Given the description of an element on the screen output the (x, y) to click on. 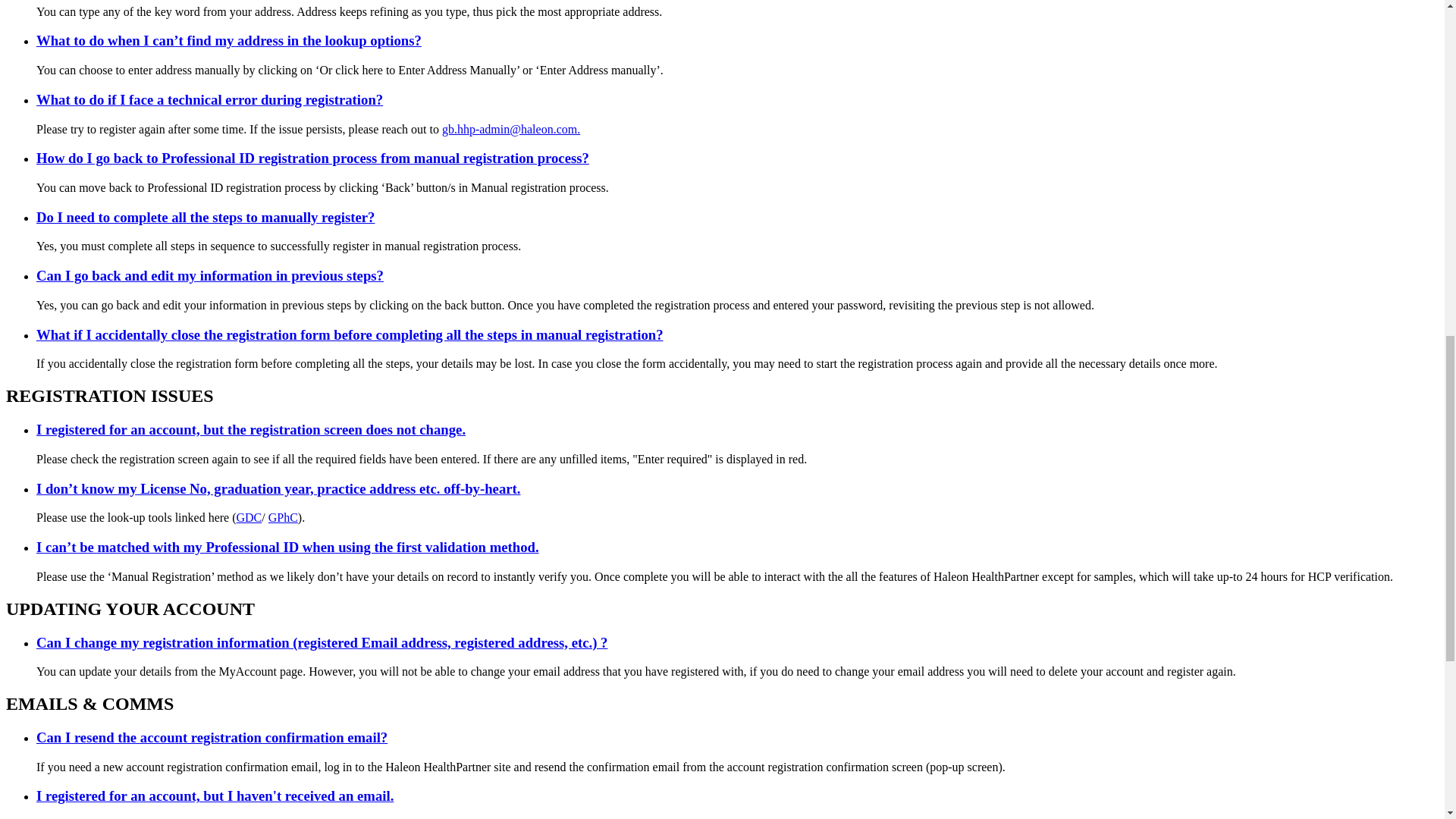
Do I need to complete all the steps to manually register? (205, 217)
What to do if I face a technical error during registration? (209, 99)
What to do if I face a technical error during registration? (209, 99)
Can I go back and edit my information in previous steps? (210, 275)
Can I resend the account registration confirmation email? (211, 737)
Do I need to complete all the steps to manually register? (205, 217)
Can I go back and edit my information in previous steps? (210, 275)
